Given the description of an element on the screen output the (x, y) to click on. 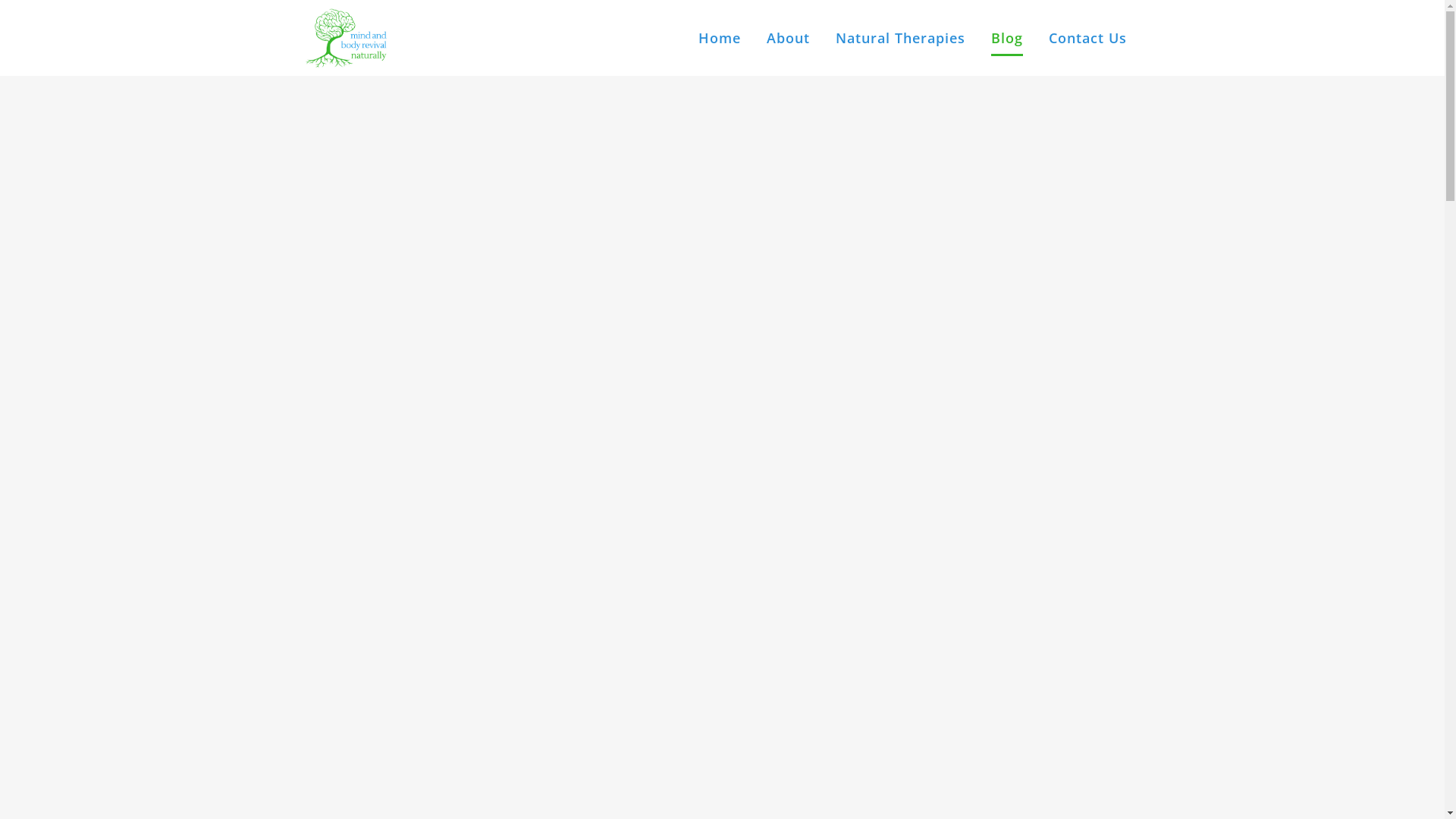
Contact Us Element type: text (1087, 37)
Home Element type: text (719, 37)
Blog Element type: text (1006, 37)
About Element type: text (787, 37)
Natural Therapies Element type: text (899, 37)
